Given the description of an element on the screen output the (x, y) to click on. 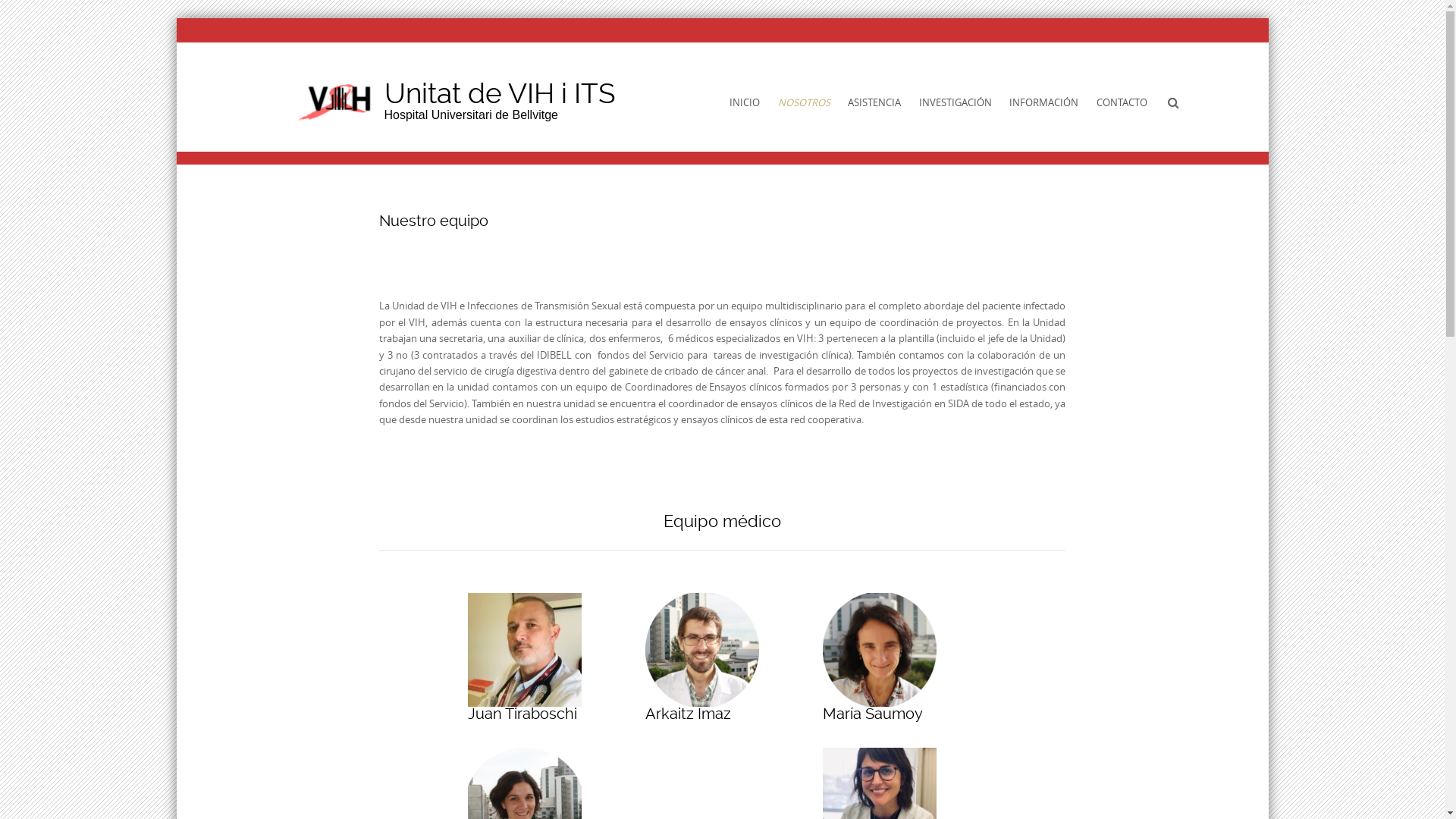
Unitat de VIH i ITS Element type: text (499, 92)
ASISTENCIA Element type: text (874, 102)
INICIO Element type: text (744, 102)
Arkaitz Imaz Element type: hover (701, 649)
NOSOTROS Element type: text (803, 102)
Juan Tiraboschi Element type: hover (523, 649)
SKIP TO CONTENT Element type: text (665, 87)
CONTACTO Element type: text (1121, 102)
Unitat de VIH i ITS Element type: hover (334, 100)
